Given the description of an element on the screen output the (x, y) to click on. 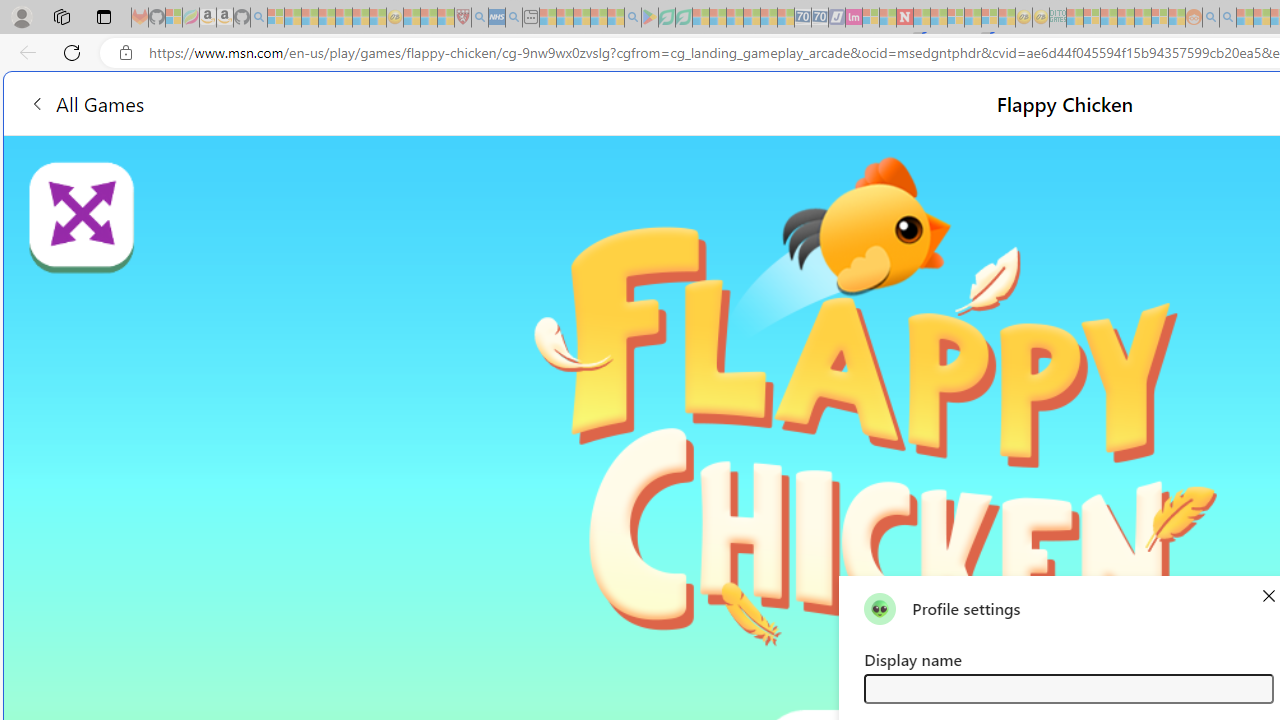
Pets - MSN - Sleeping (598, 17)
Kinda Frugal - MSN - Sleeping (1142, 17)
Terms of Use Agreement - Sleeping (666, 17)
